Given the description of an element on the screen output the (x, y) to click on. 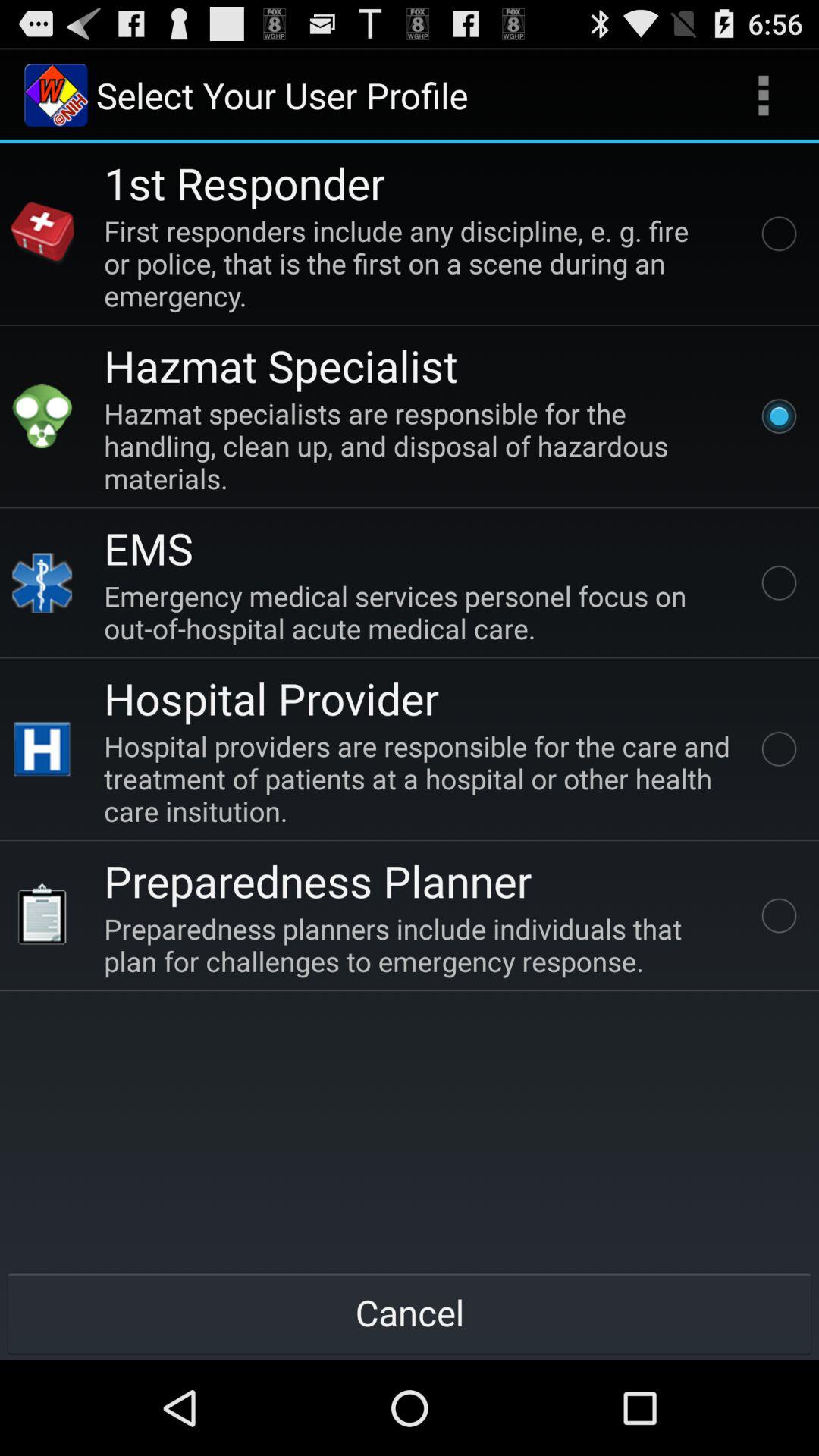
swipe to the hazmat specialists are item (420, 445)
